Given the description of an element on the screen output the (x, y) to click on. 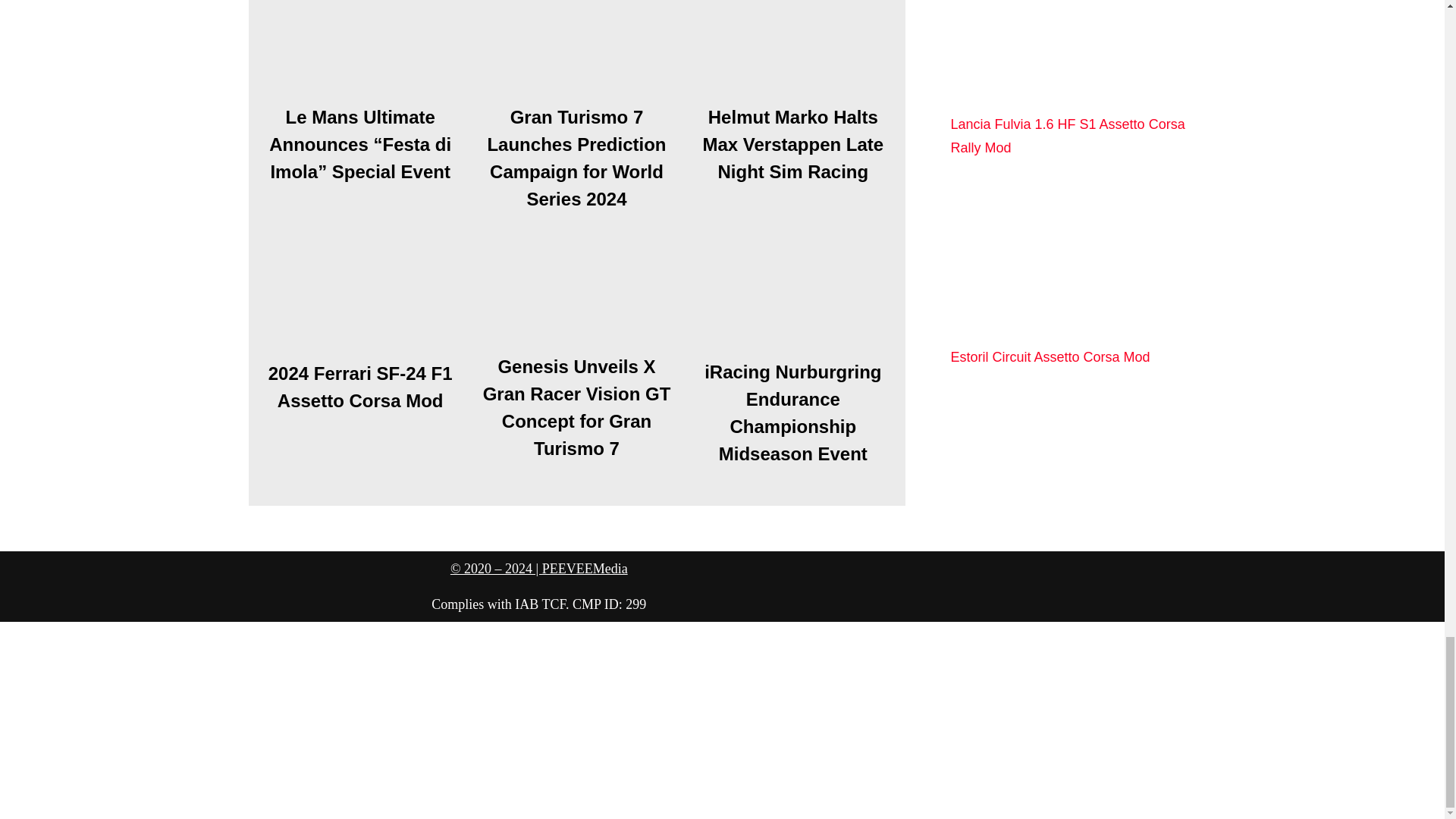
Helmut Marko Halts Max Verstappen Late Night Sim Racing (792, 52)
